Given the description of an element on the screen output the (x, y) to click on. 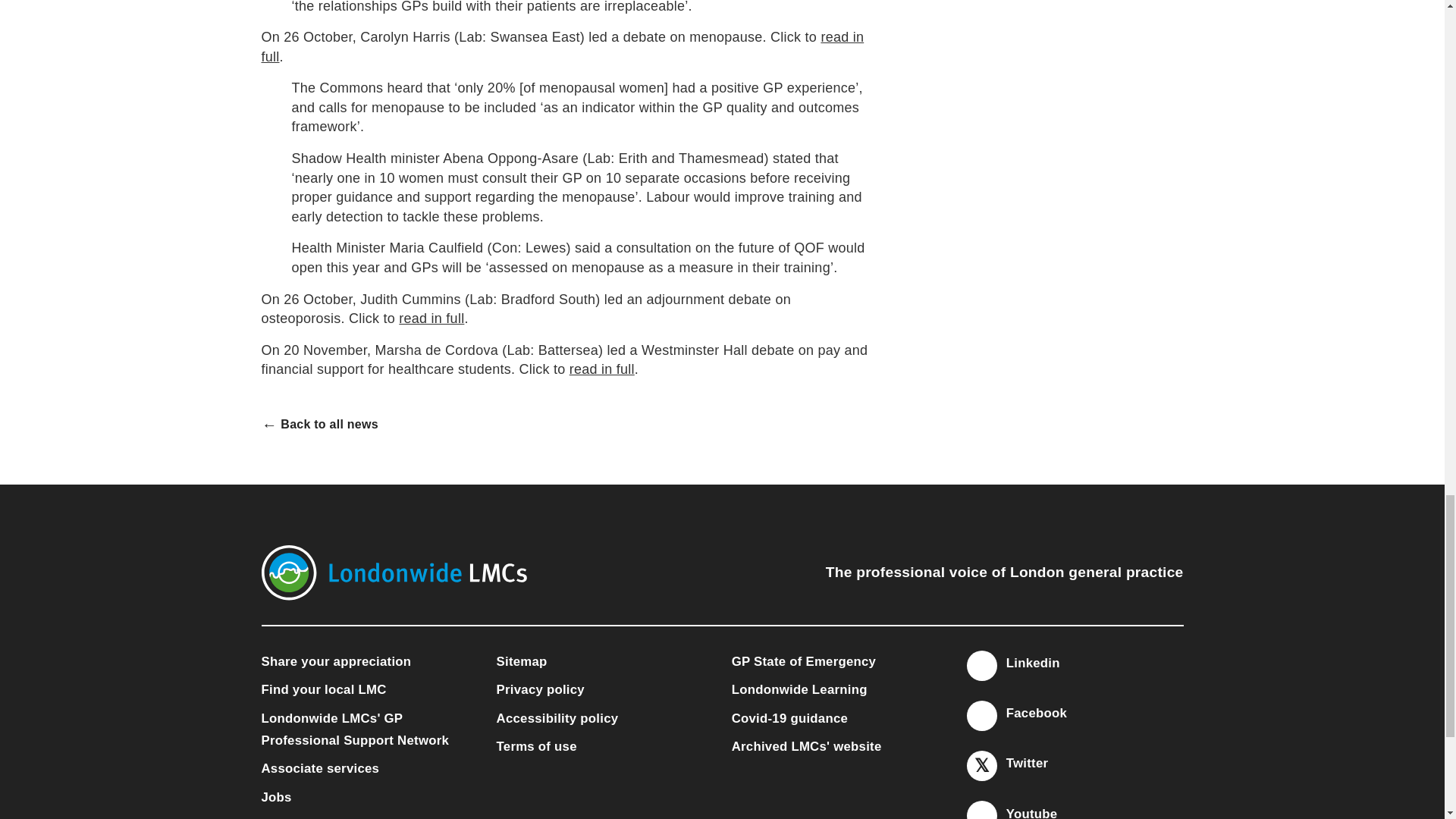
Twitter (981, 765)
Youtube (981, 811)
Linkedin (981, 665)
Facebook (981, 715)
